Given the description of an element on the screen output the (x, y) to click on. 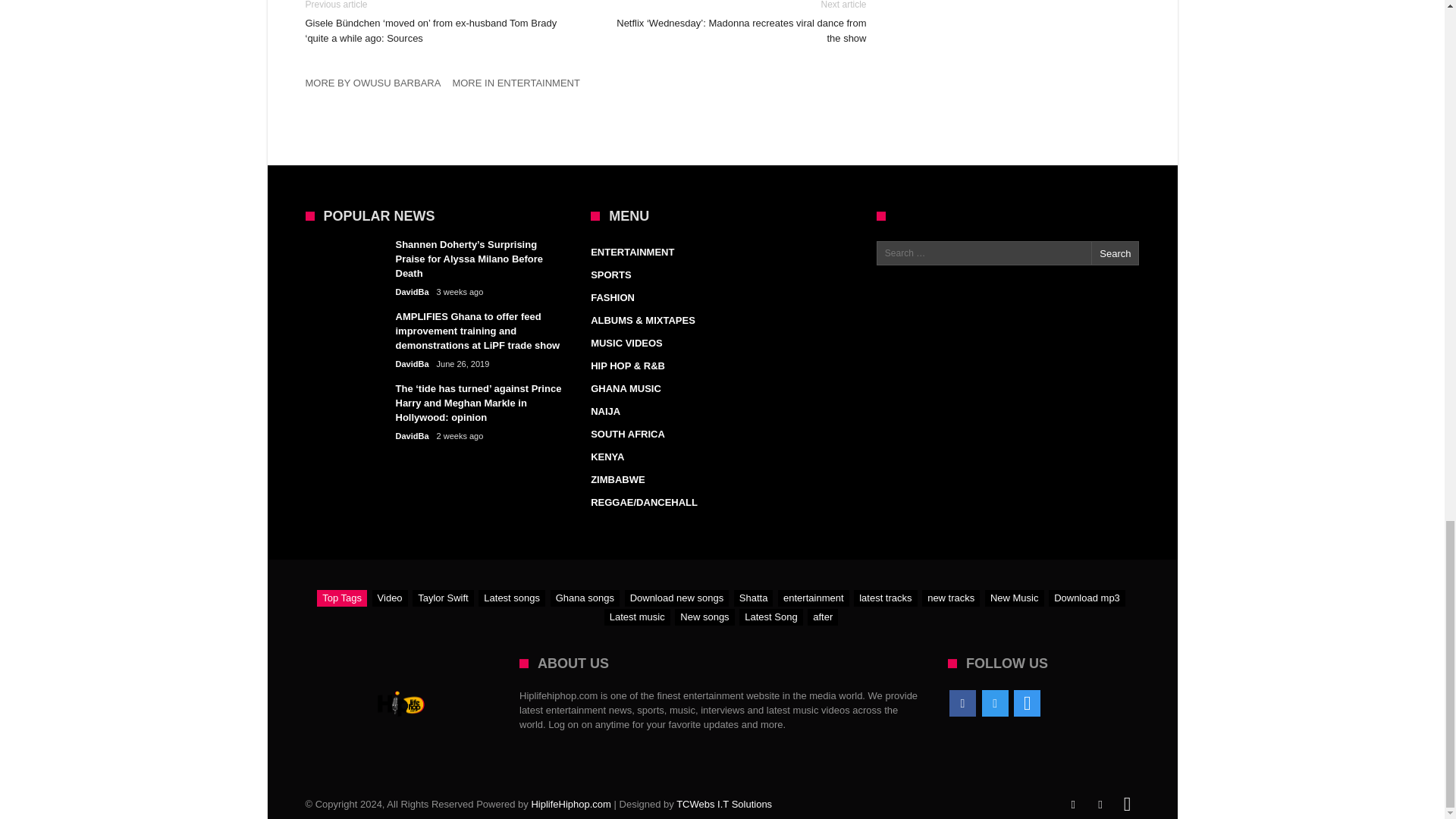
MORE IN ENTERTAINMENT (521, 86)
instagram (1027, 704)
Search (1114, 252)
Posts by DavidBa (412, 292)
Search (1114, 252)
Posts by DavidBa (412, 364)
Facebook (962, 704)
Twitter (995, 704)
MORE BY OWUSU BARBARA (377, 86)
Posts by DavidBa (412, 436)
